Given the description of an element on the screen output the (x, y) to click on. 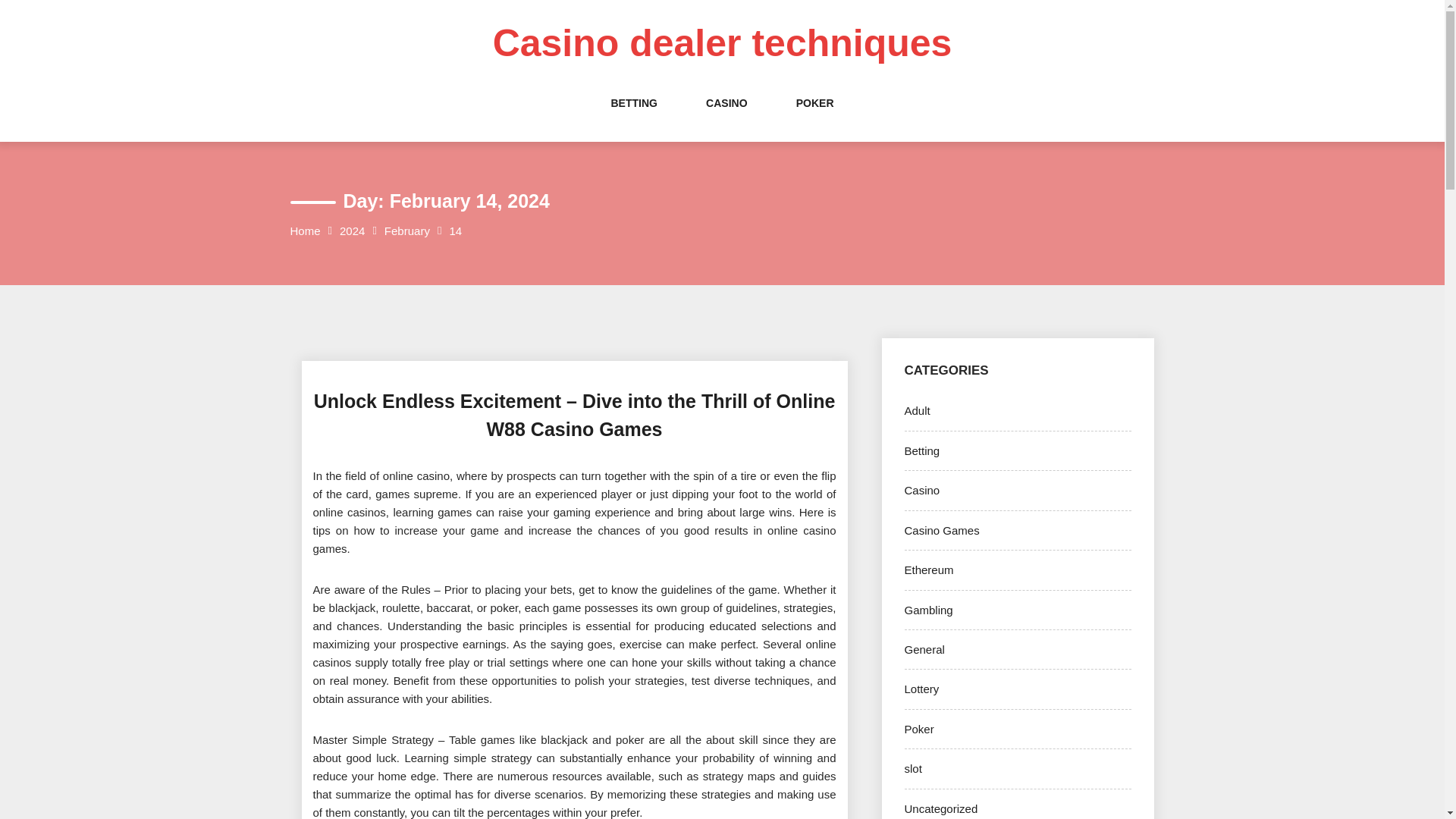
Lottery (921, 688)
Casino dealer techniques (722, 43)
Casino (921, 490)
General (923, 649)
February (406, 230)
BETTING (633, 118)
Adult (917, 410)
Casino Games (941, 530)
Uncategorized (940, 808)
CASINO (726, 118)
